Given the description of an element on the screen output the (x, y) to click on. 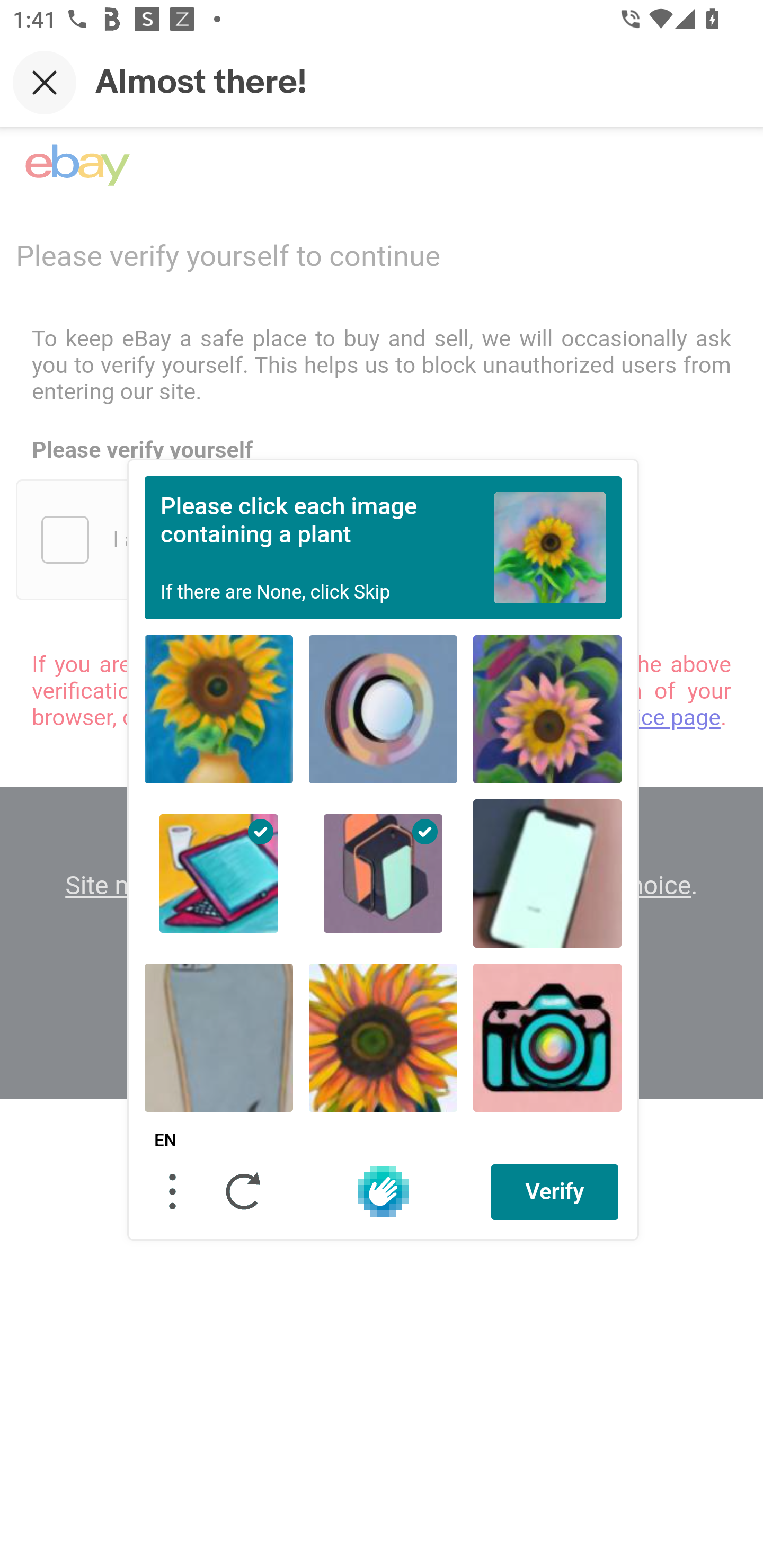
Close (44, 82)
Example image 1 (549, 546)
Challenge Image 1 (218, 708)
Challenge Image 2 (382, 708)
Challenge Image 3 (546, 708)
Challenge Image 4 (218, 873)
Challenge Image 5 (382, 873)
Challenge Image 6 (546, 873)
Challenge Image 7 (218, 1036)
Challenge Image 8 (382, 1036)
Challenge Image 9 (546, 1036)
Select a language English EN English (165, 1140)
Verify Answers (554, 1191)
Refresh Challenge. (243, 1190)
hCaptcha (382, 1190)
